Given the description of an element on the screen output the (x, y) to click on. 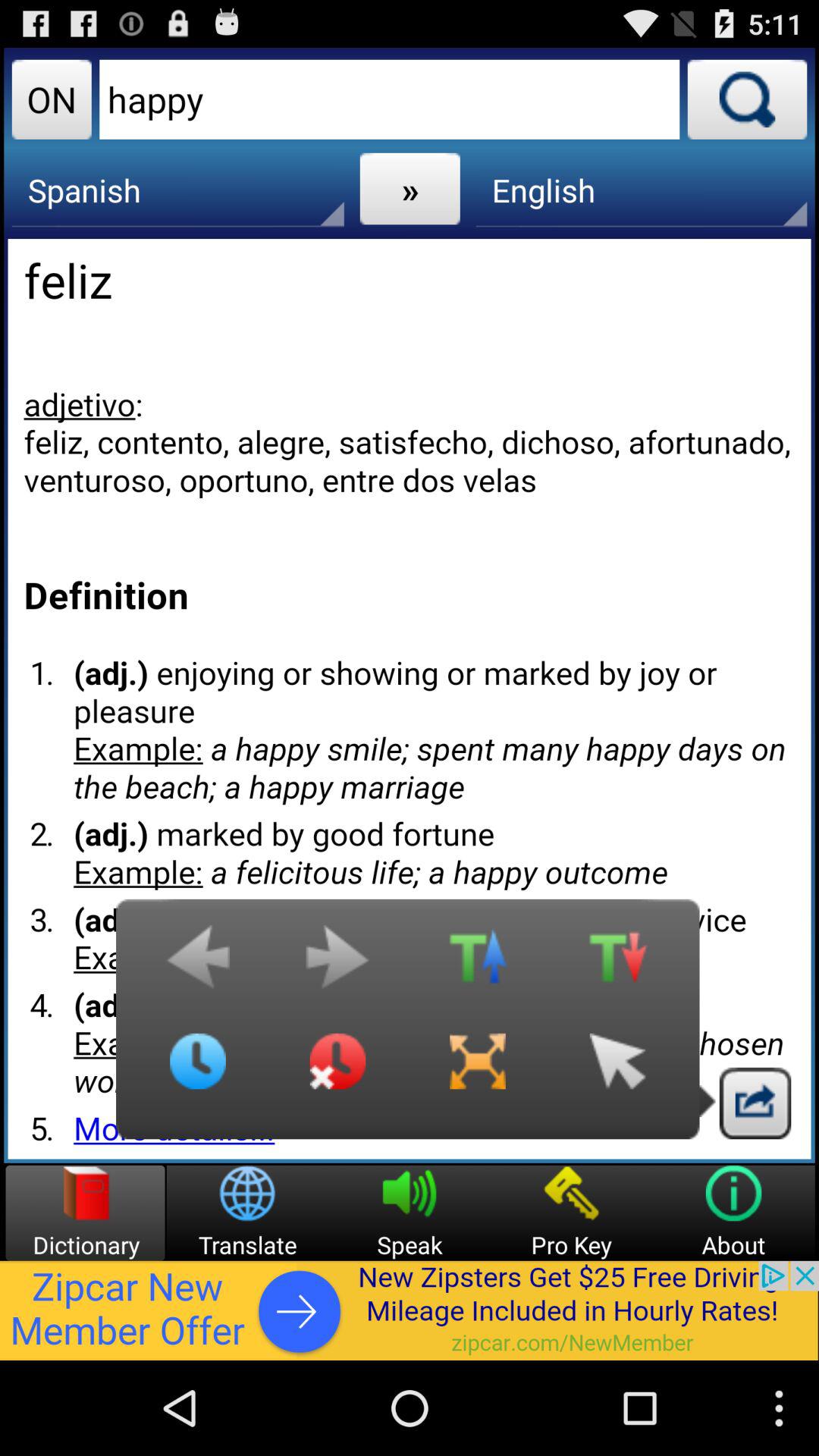
backward (197, 964)
